Given the description of an element on the screen output the (x, y) to click on. 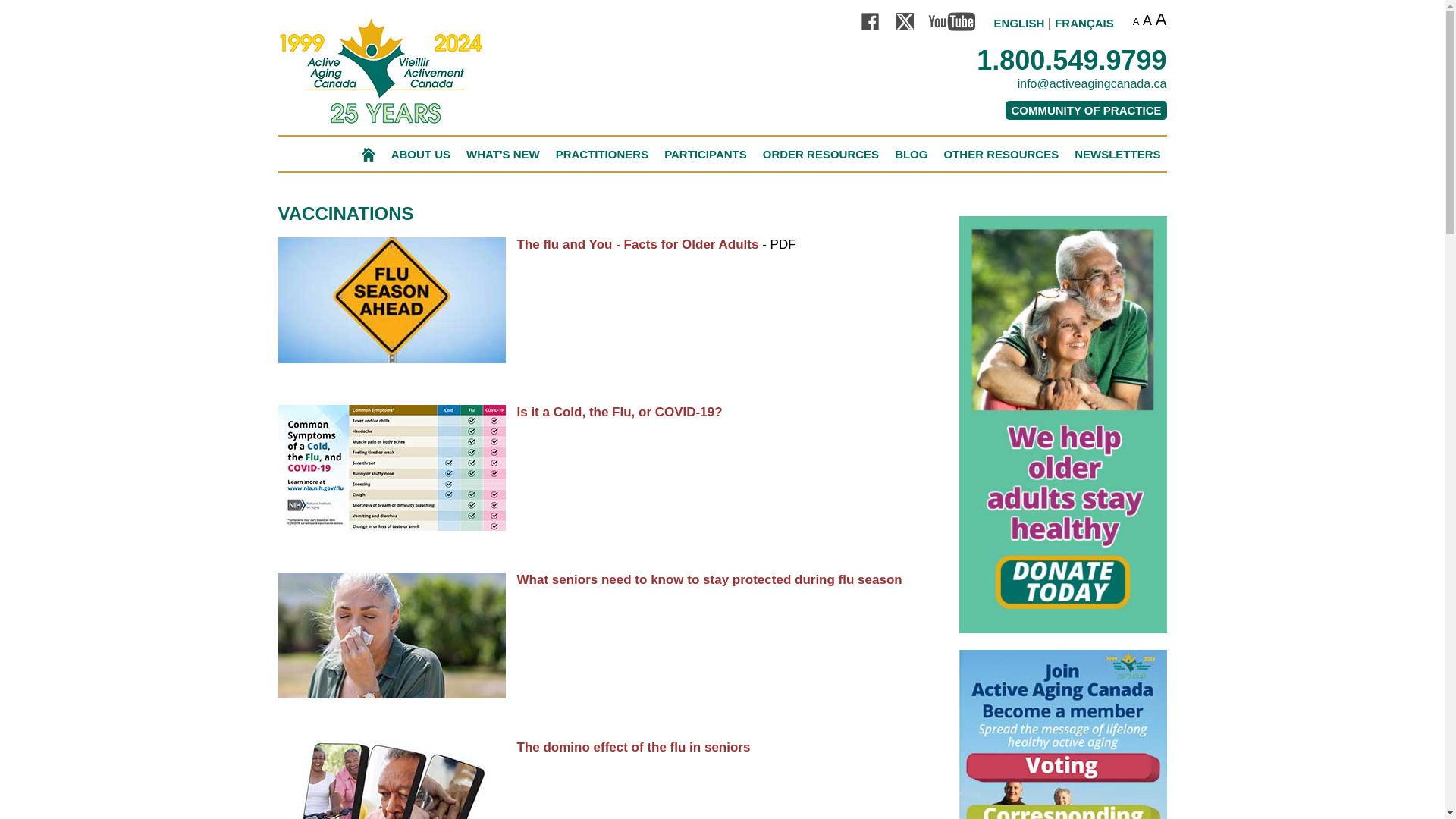
WHAT'S NEW (502, 152)
ENGLISH (1019, 22)
ABOUT US (420, 152)
PRACTITIONERS (602, 152)
COMMUNITY OF PRACTICE (1086, 109)
